Given the description of an element on the screen output the (x, y) to click on. 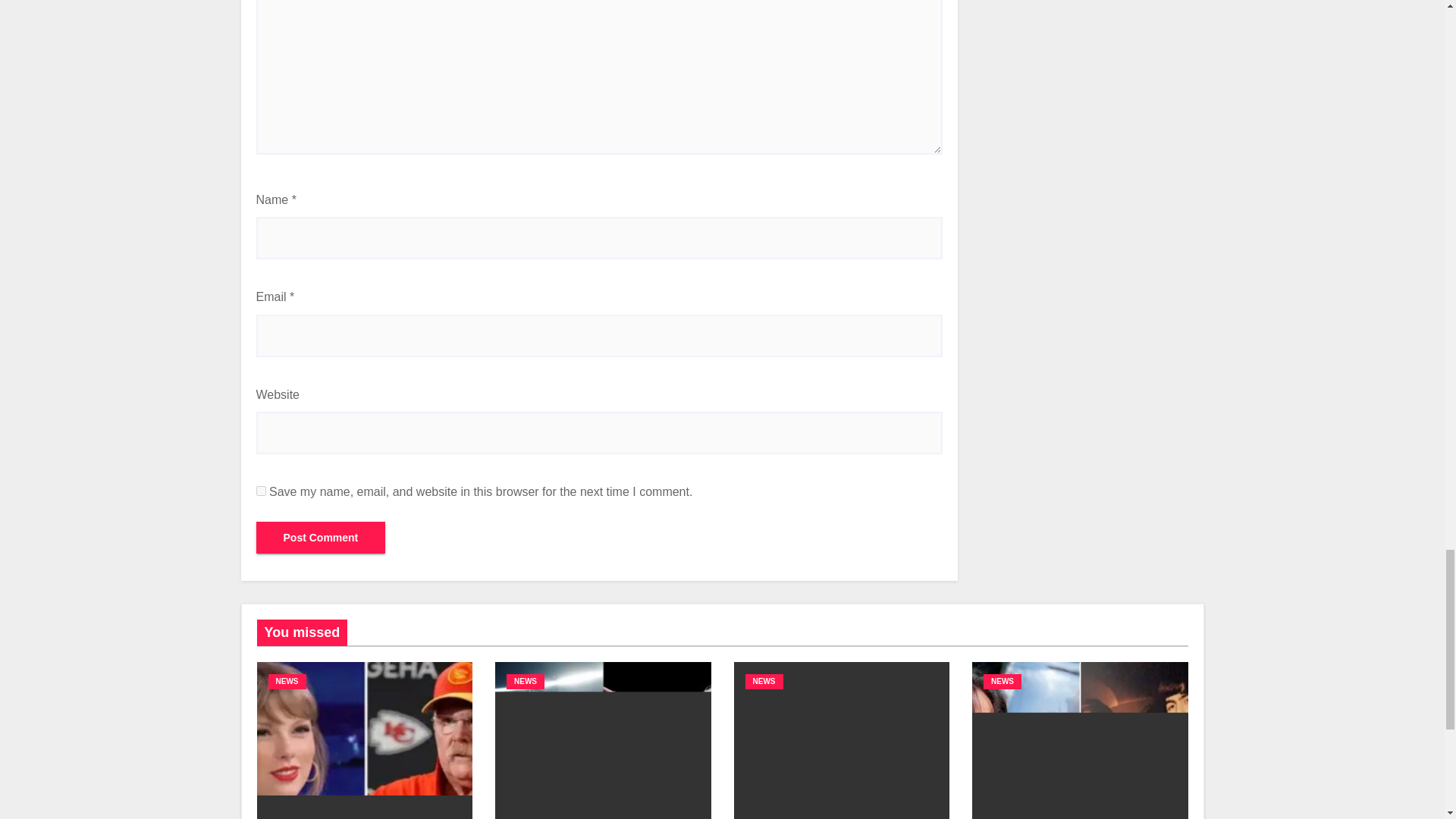
Post Comment (320, 537)
Post Comment (320, 537)
yes (261, 491)
